Given the description of an element on the screen output the (x, y) to click on. 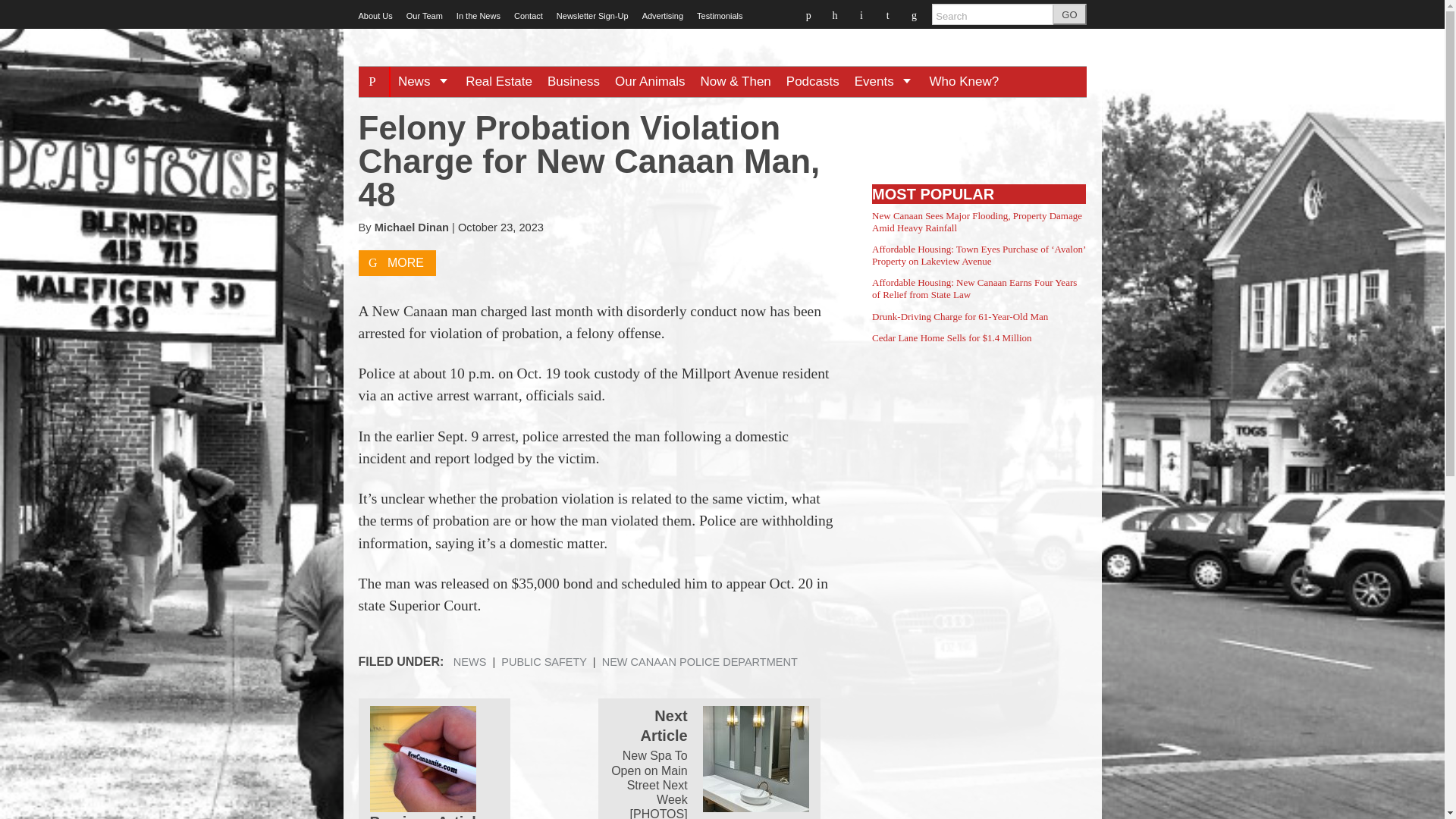
Advertising (662, 15)
Contact (528, 15)
Our Team (424, 15)
In the News (478, 15)
GO (1069, 14)
About Us (374, 15)
Testimonials (719, 15)
Newsletter Sign-Up (592, 15)
